Given the description of an element on the screen output the (x, y) to click on. 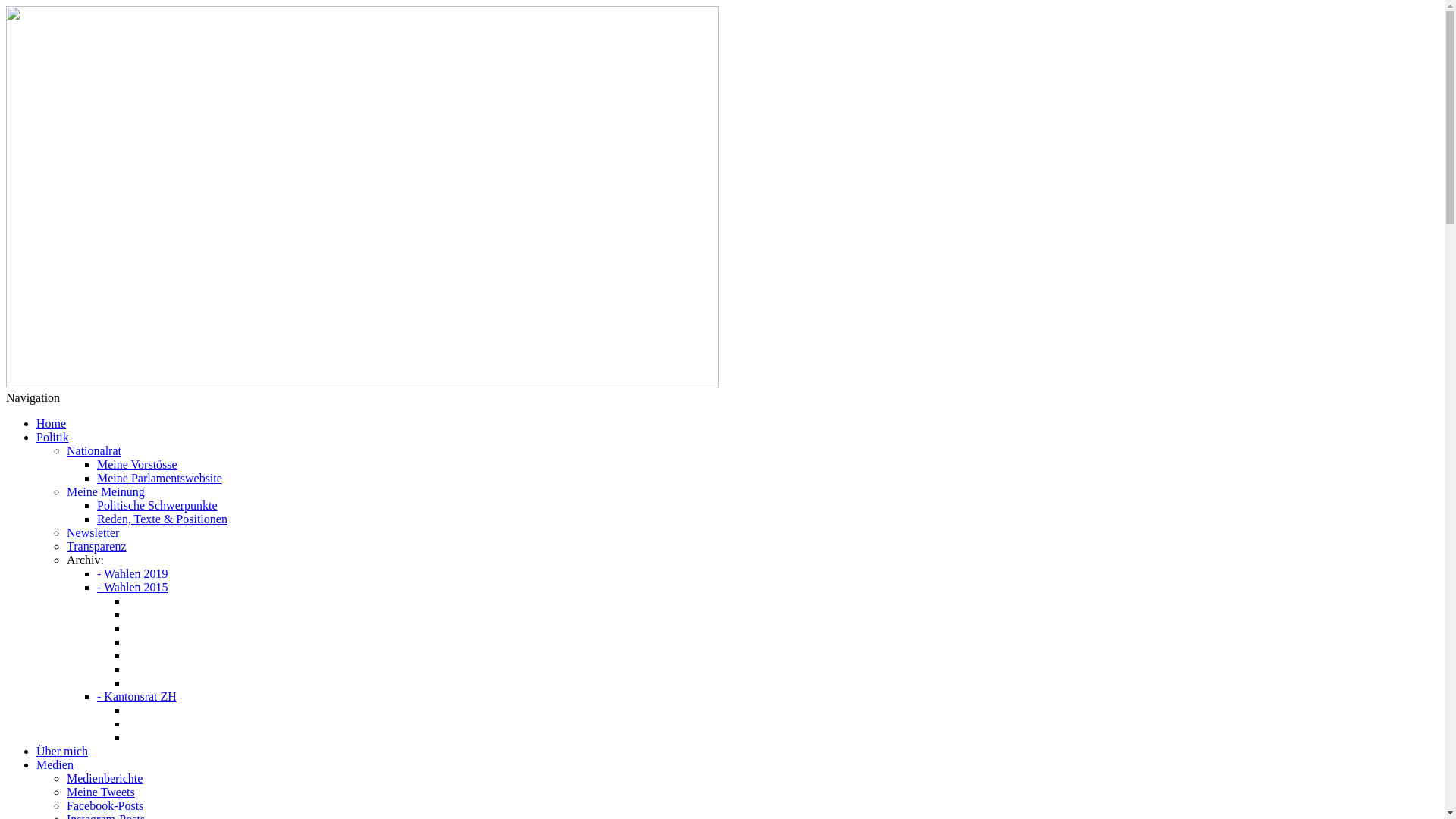
- Kantonsrat ZH Element type: text (136, 696)
Politik Element type: text (52, 436)
Meine Parlamentswebsite Element type: text (159, 477)
Facebook-Posts Element type: text (104, 805)
Transparenz Element type: text (96, 545)
Home Element type: text (50, 423)
Medien Element type: text (54, 764)
Meine Meinung Element type: text (105, 491)
Archiv: Element type: text (84, 559)
- Wahlen 2015 Element type: text (132, 586)
Newsletter Element type: text (92, 532)
Politische Schwerpunkte Element type: text (157, 504)
Reden, Texte & Positionen Element type: text (162, 518)
Meine Tweets Element type: text (100, 791)
Medienberichte Element type: text (104, 777)
- Wahlen 2019 Element type: text (132, 573)
Nationalrat Element type: text (93, 450)
